Given the description of an element on the screen output the (x, y) to click on. 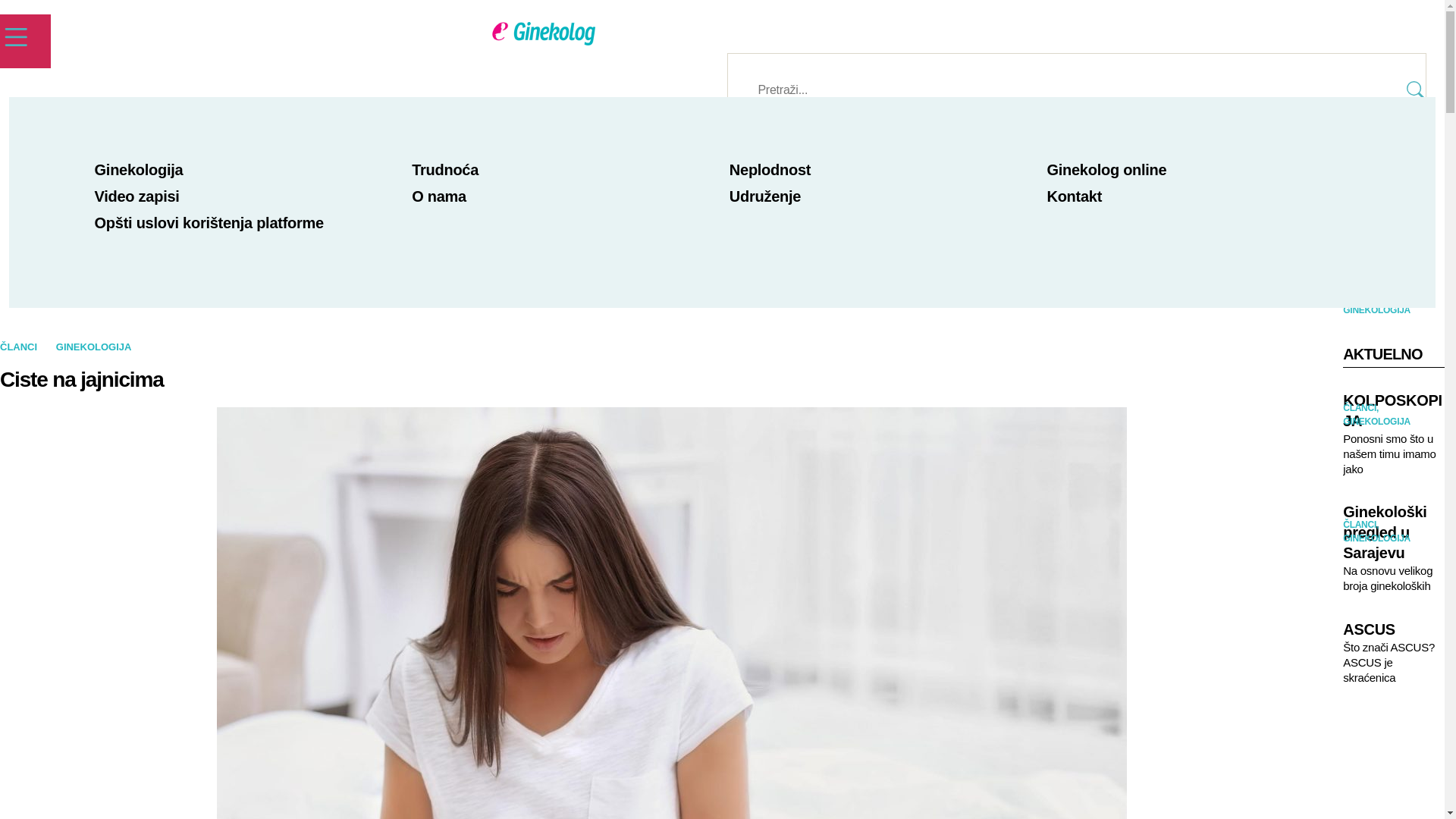
GINEKOLOGIJA Element type: text (93, 346)
Kontakt Element type: text (1073, 196)
O nama Element type: text (438, 196)
Neplodnost Element type: text (769, 169)
ASCUS Element type: text (1393, 629)
Video zapisi Element type: text (136, 196)
Ginekologija Element type: text (138, 169)
Ginekolog online Element type: text (1106, 169)
KOLPOSKOPIJA Element type: text (1393, 410)
